Given the description of an element on the screen output the (x, y) to click on. 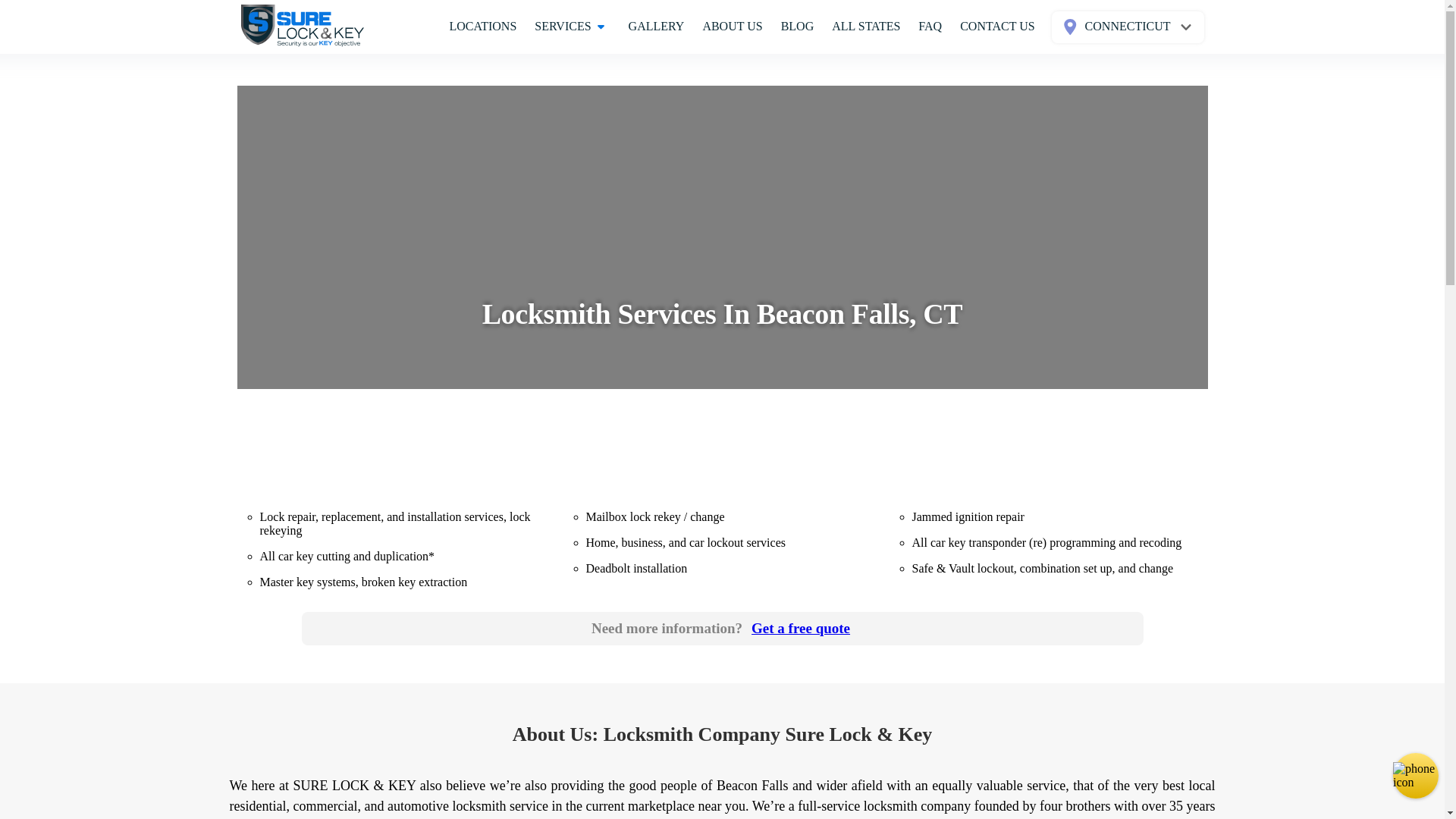
CONTACT US (996, 26)
ABOUT US (732, 26)
GALLERY (657, 26)
BLOG (721, 628)
FAQ (797, 26)
LOCATIONS (929, 26)
ALL STATES (482, 26)
